Given the description of an element on the screen output the (x, y) to click on. 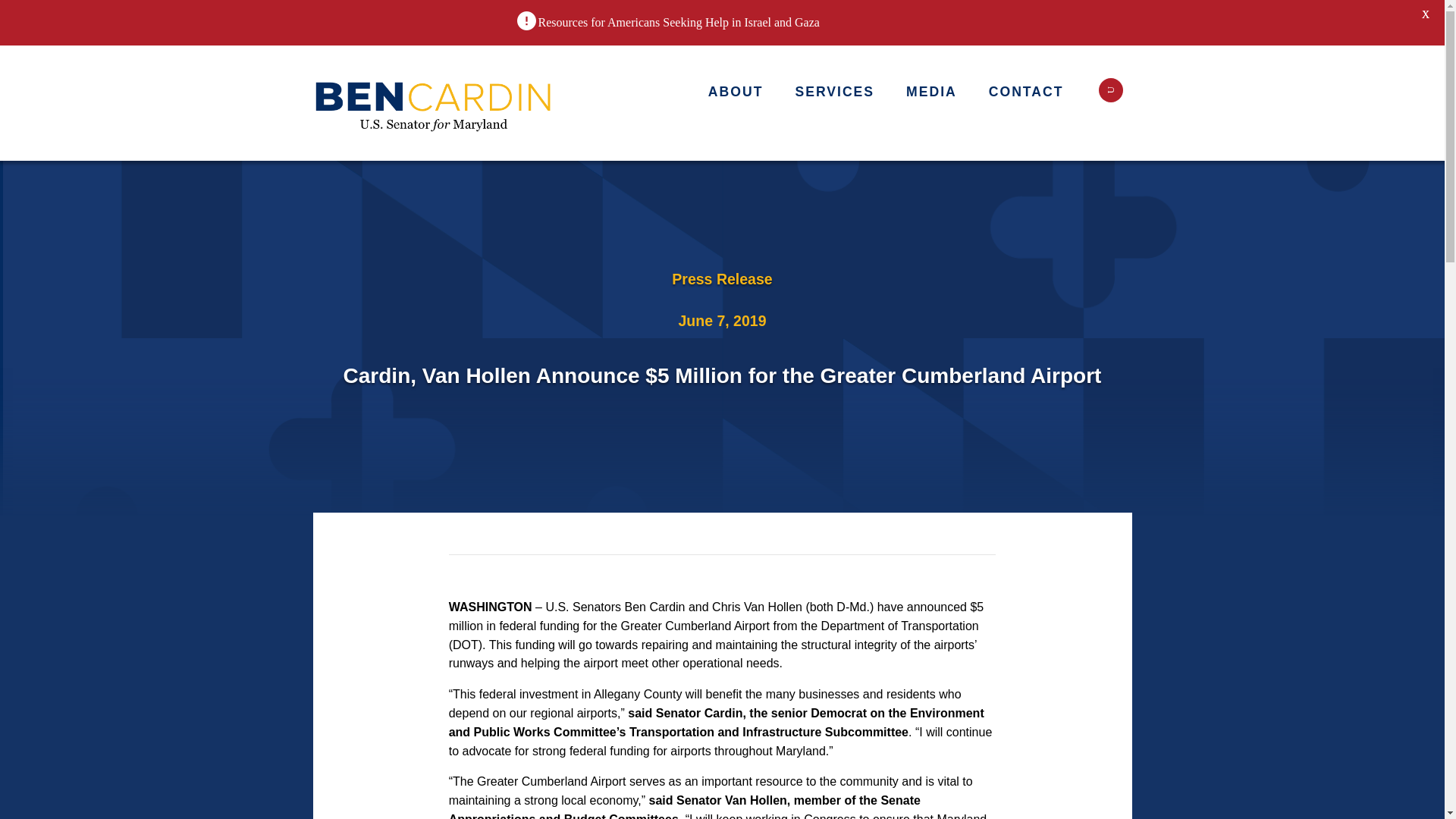
Large-Inner (433, 102)
